Given the description of an element on the screen output the (x, y) to click on. 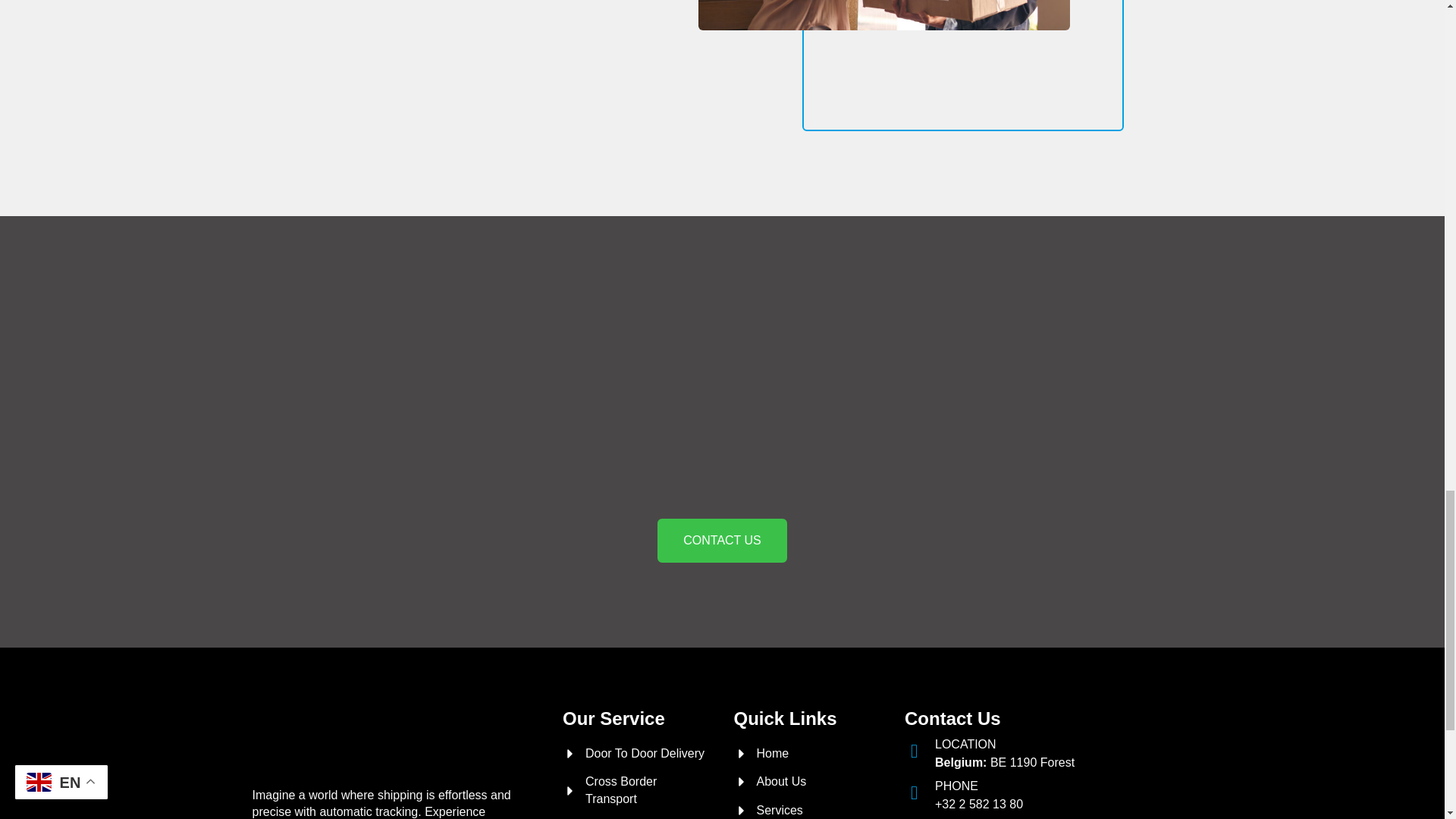
CONTACT US (722, 540)
